Given the description of an element on the screen output the (x, y) to click on. 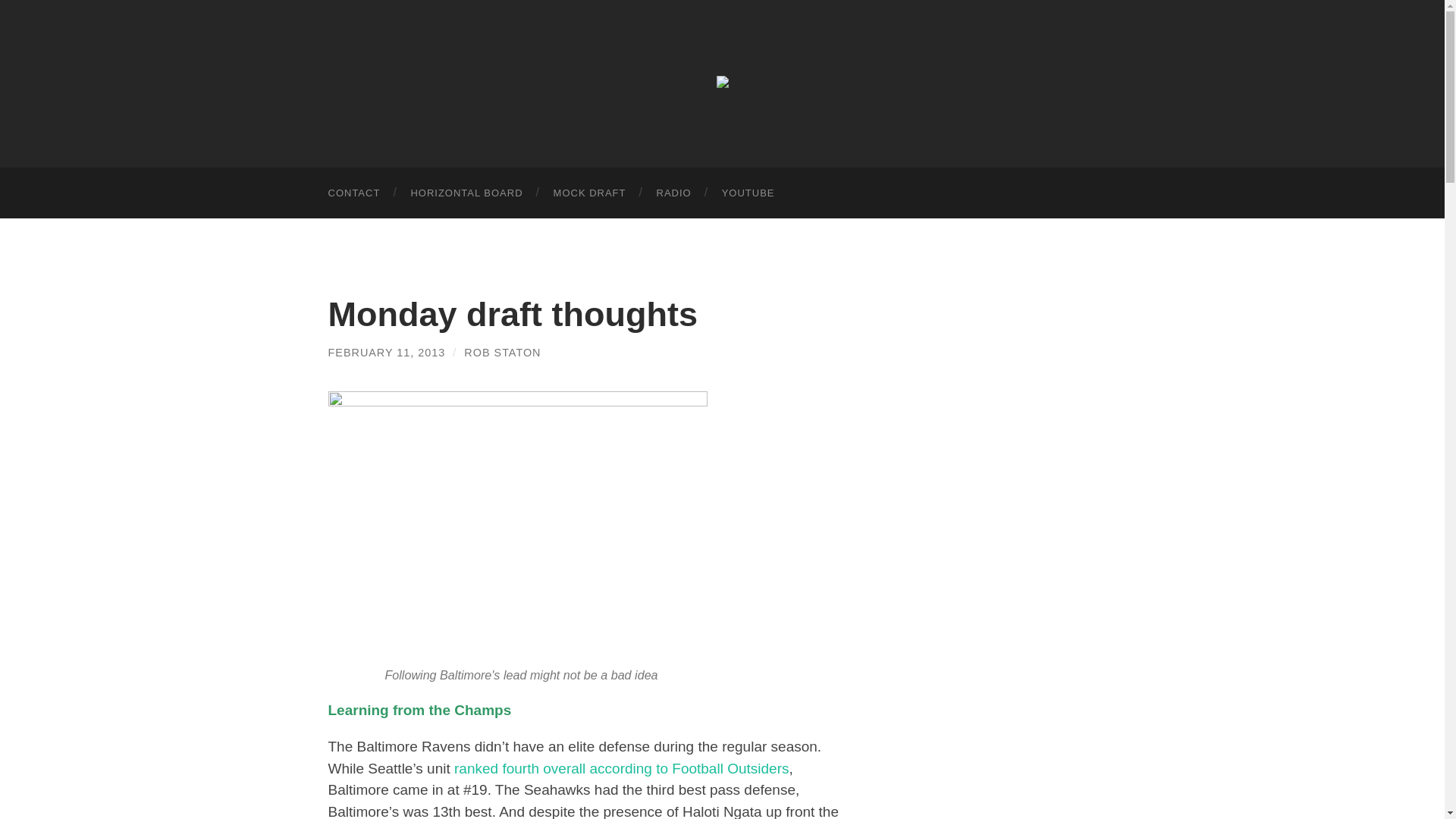
Posts by Rob Staton (502, 352)
Joe Flacco (516, 524)
ROB STATON (502, 352)
YOUTUBE (748, 192)
FEBRUARY 11, 2013 (386, 352)
HORIZONTAL BOARD (465, 192)
CONTACT (353, 192)
MOCK DRAFT (590, 192)
Seahawks Draft Blog (722, 81)
RADIO (674, 192)
ranked fourth overall according to Football Outsiders (621, 768)
